Given the description of an element on the screen output the (x, y) to click on. 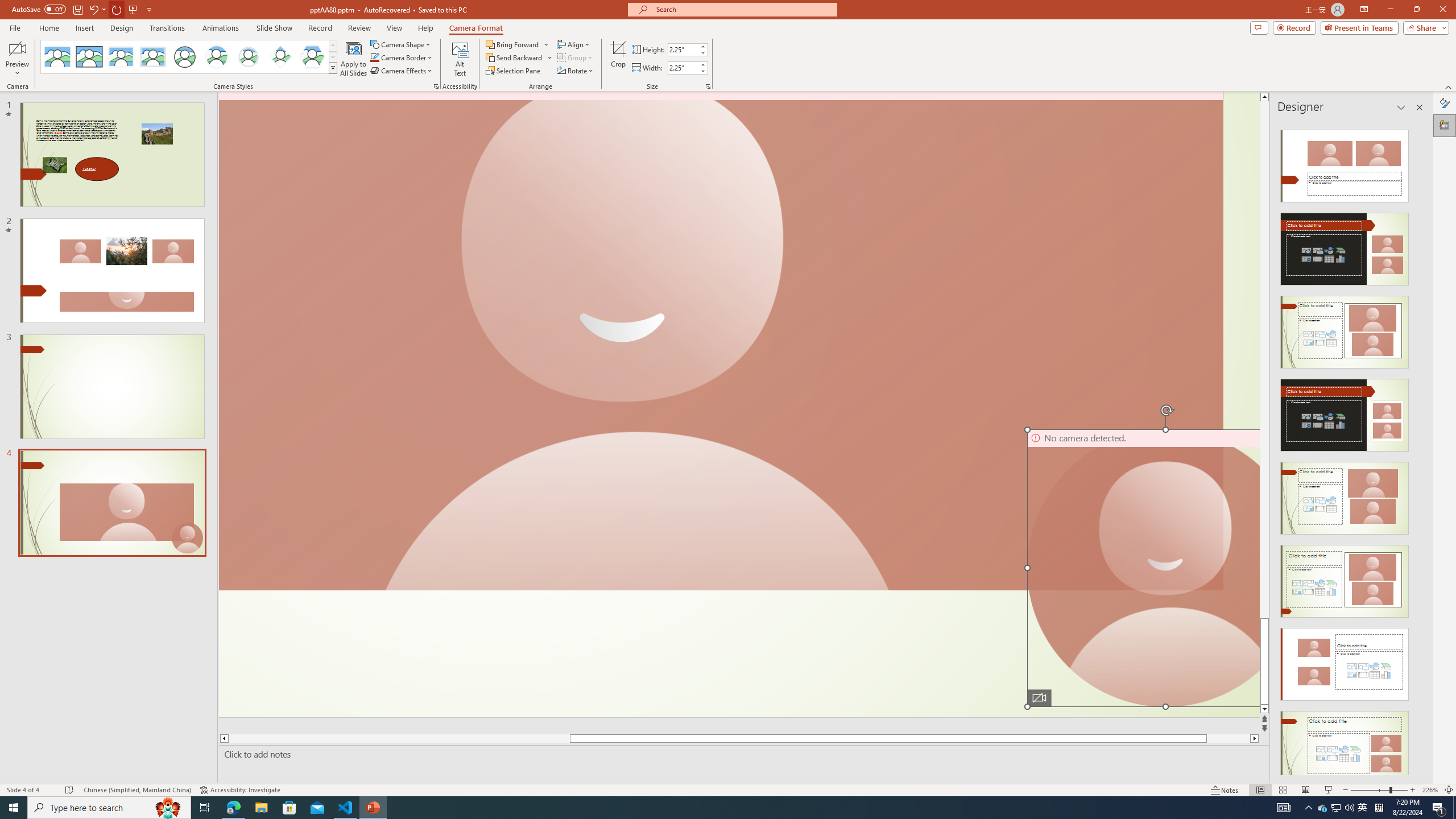
Crop (617, 58)
